Given the description of an element on the screen output the (x, y) to click on. 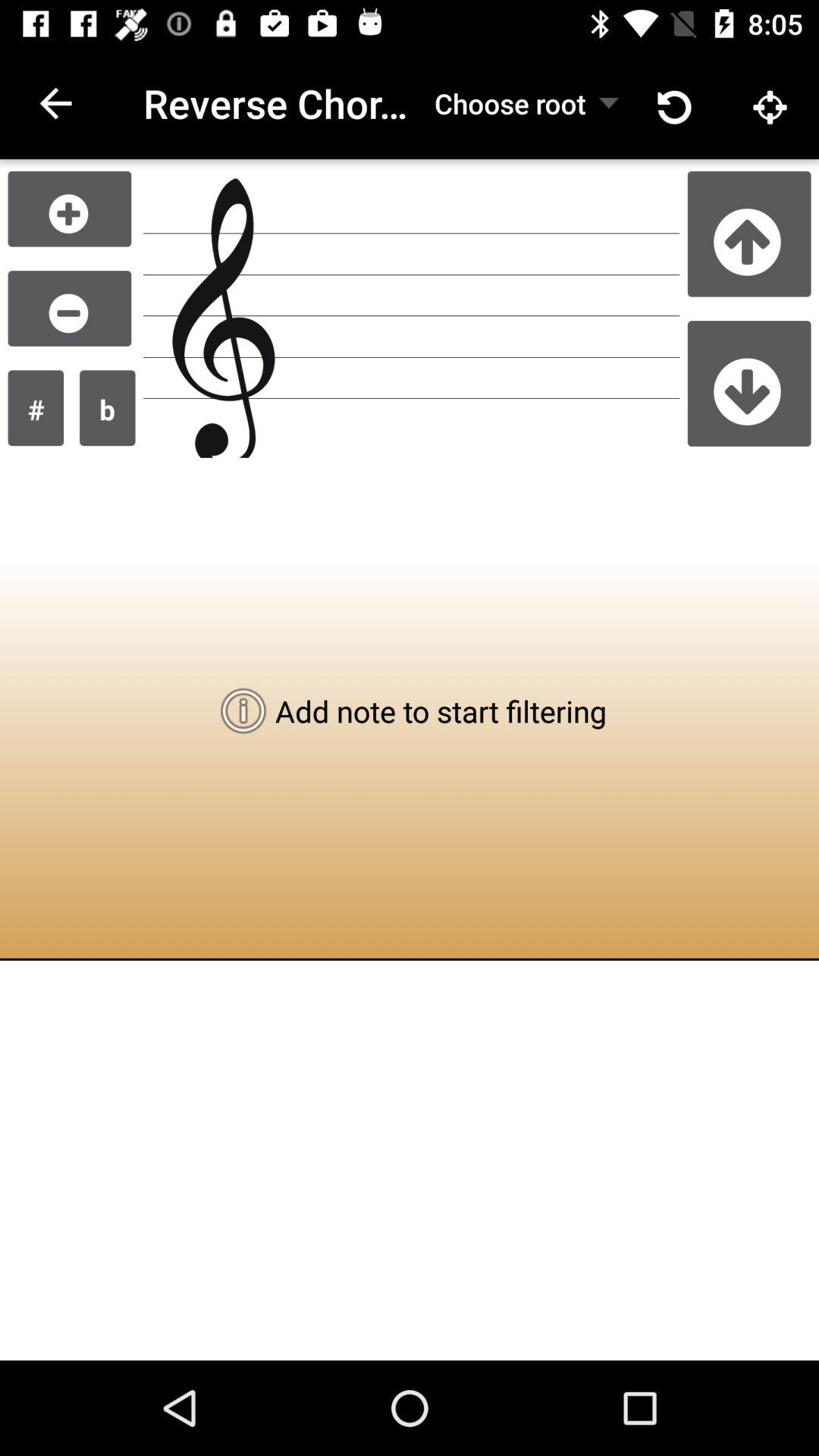
remove item (69, 308)
